Given the description of an element on the screen output the (x, y) to click on. 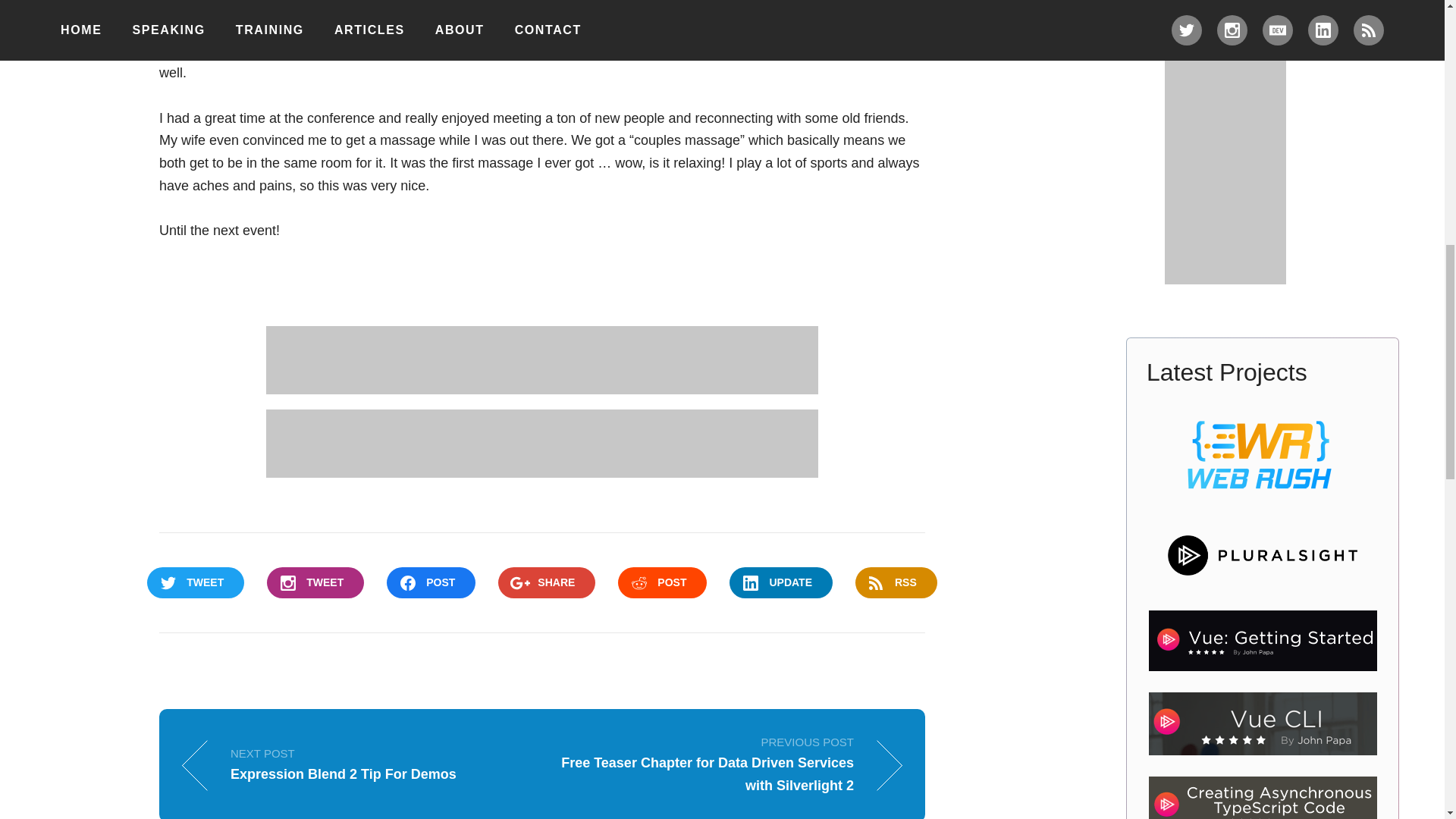
SHARE (349, 764)
TWEET (546, 582)
TWEET (195, 582)
RSS (315, 582)
POST (896, 582)
POST (661, 582)
UPDATE (431, 582)
